Given the description of an element on the screen output the (x, y) to click on. 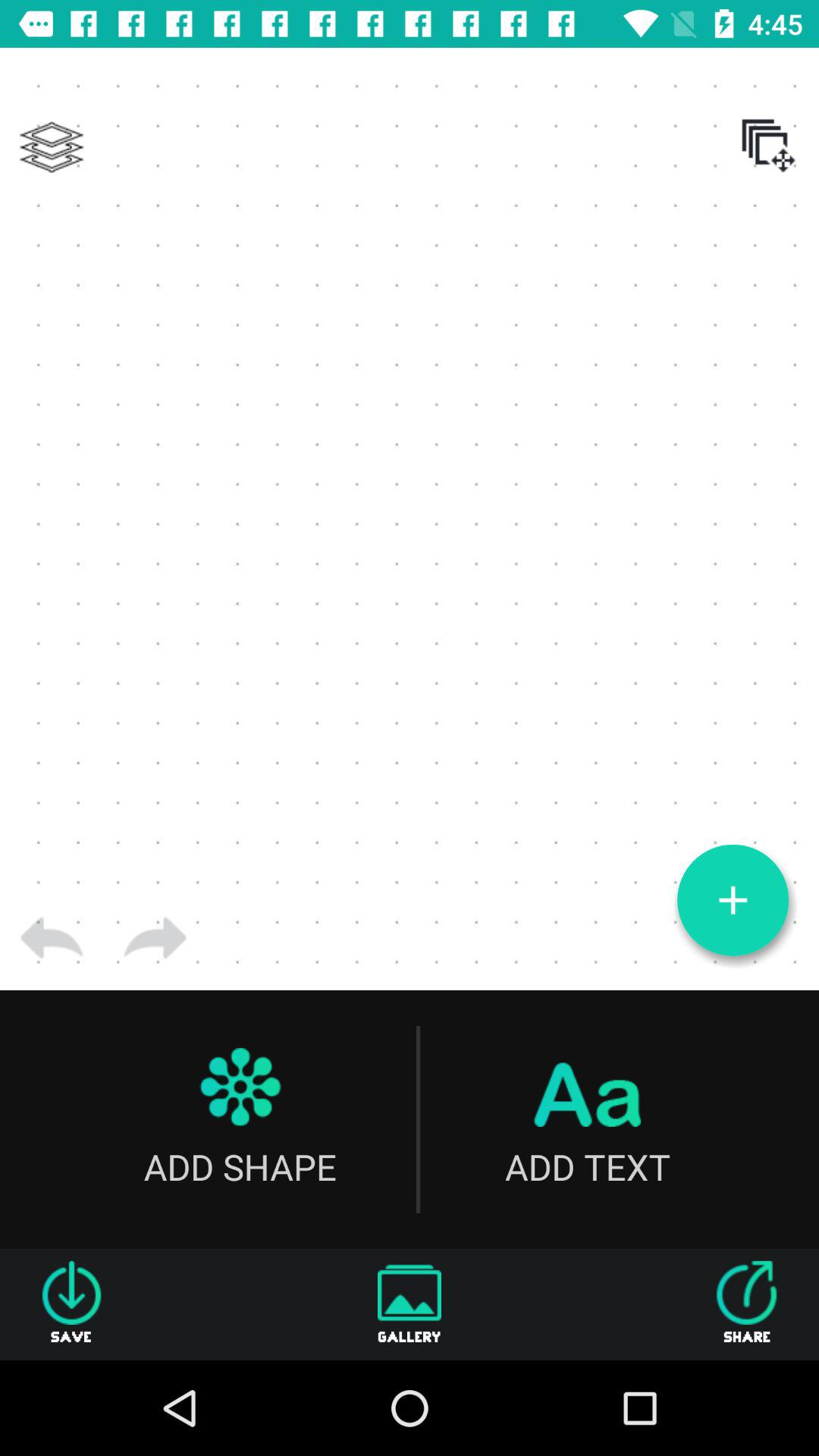
turn on gallery (409, 1304)
